Given the description of an element on the screen output the (x, y) to click on. 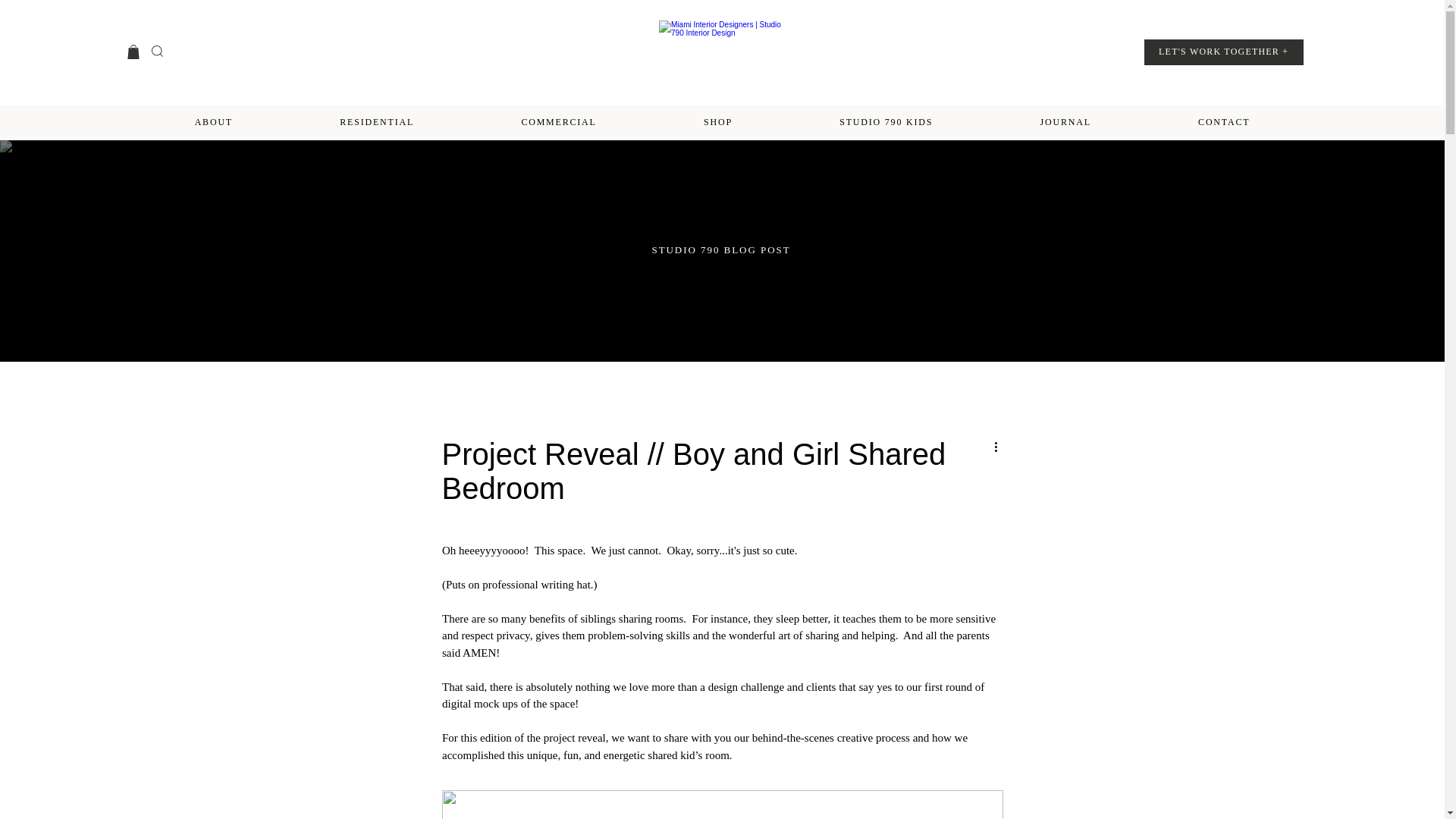
SHOP (717, 121)
RESIDENTIAL (376, 121)
STUDIO 790 KIDS (886, 121)
JOURNAL (1065, 121)
COMMERCIAL (558, 121)
CONTACT (1223, 121)
ABOUT (213, 121)
